Given the description of an element on the screen output the (x, y) to click on. 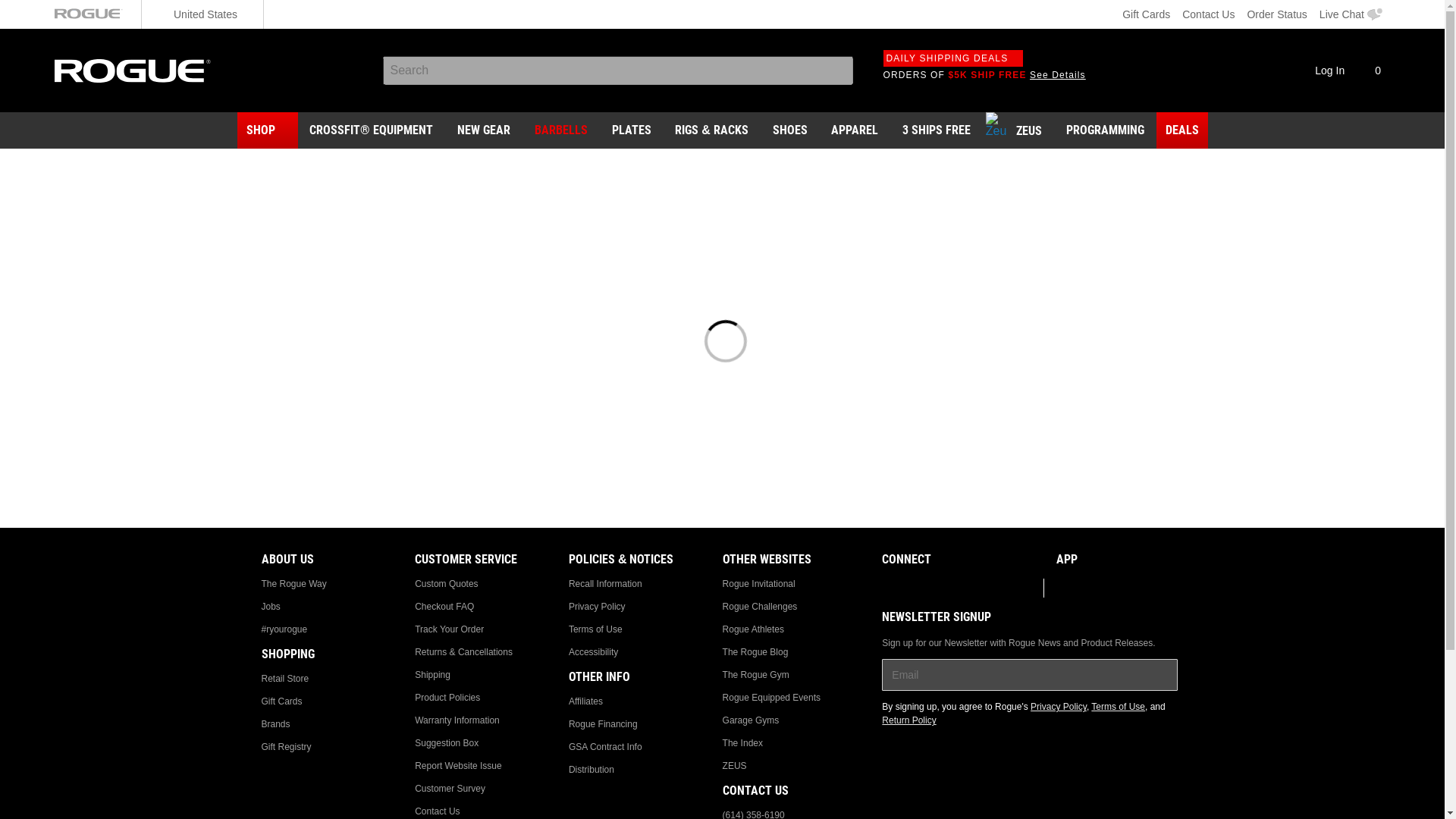
Contact Us (1208, 14)
United States (202, 14)
Gift Cards (1146, 14)
DAILY SHIPPING DEALS (952, 57)
Order Status (1276, 14)
Live Chat (1351, 14)
Log In (1320, 70)
